Given the description of an element on the screen output the (x, y) to click on. 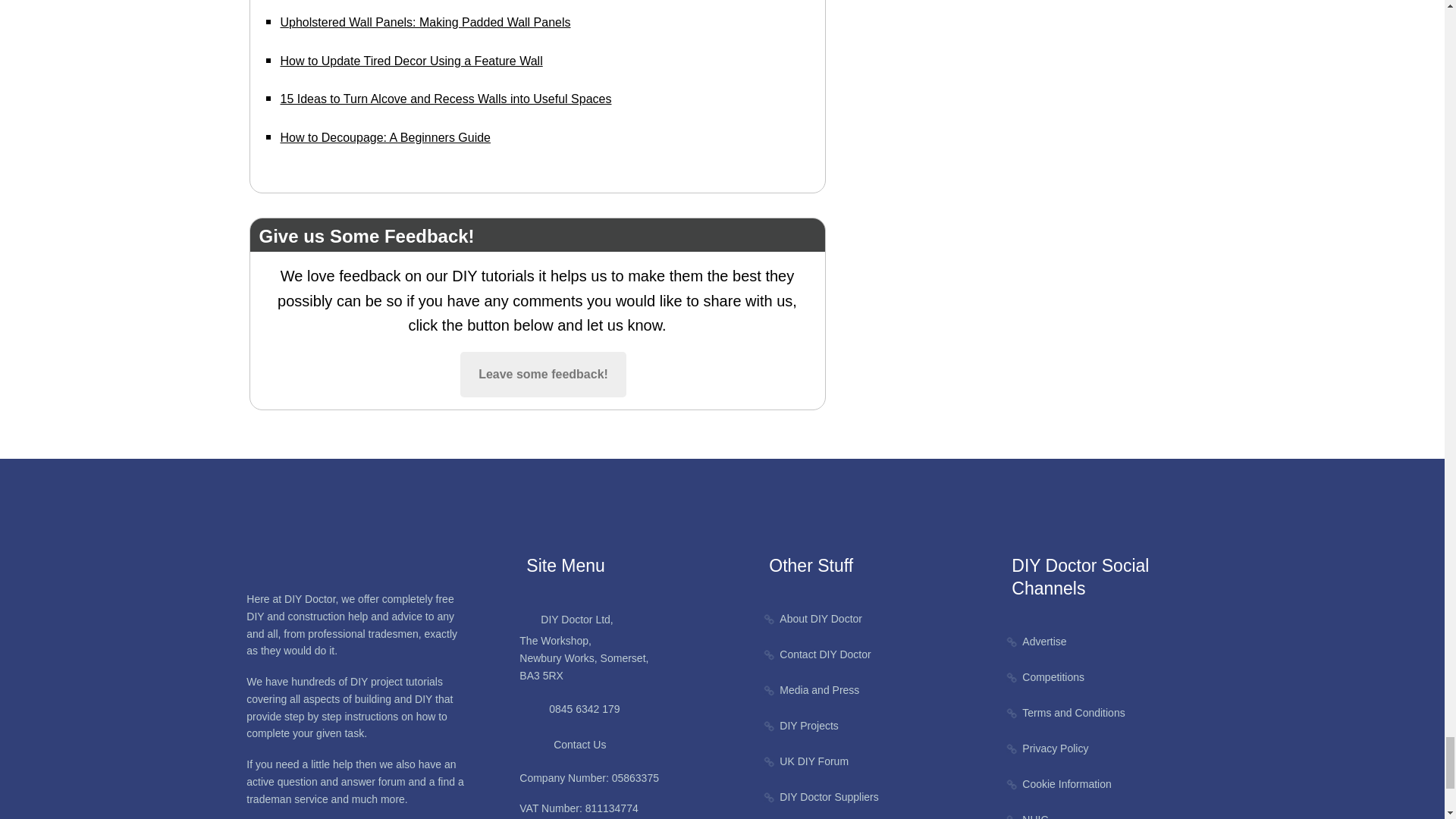
Leave some feedback! (543, 374)
